Given the description of an element on the screen output the (x, y) to click on. 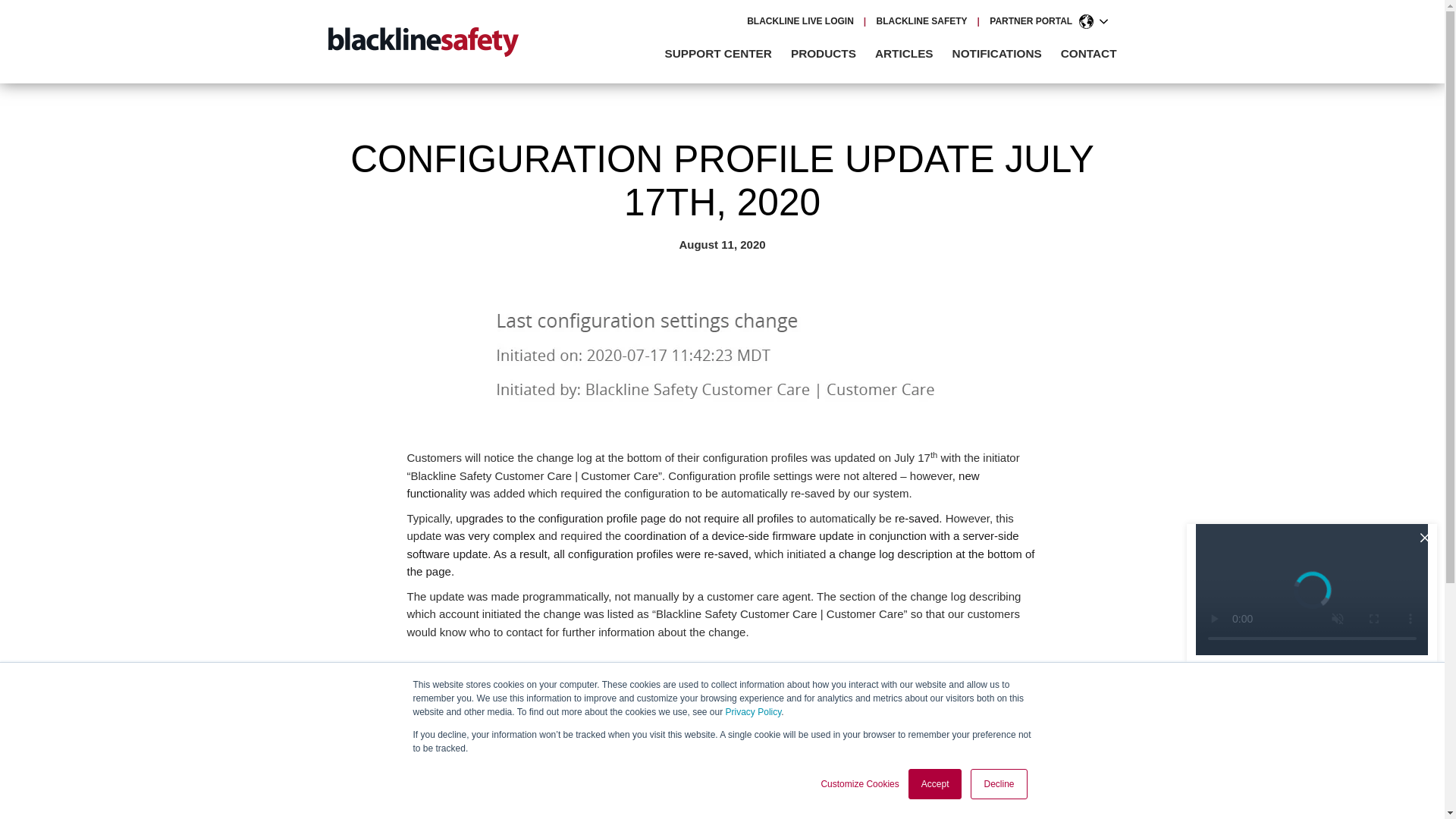
Accept (935, 784)
PARTNER PORTAL (1030, 20)
Privacy Policy (753, 711)
BLACKLINE LIVE LOGIN (799, 20)
Customize Cookies (859, 784)
ENGLISH (1097, 21)
CONTACT (1088, 53)
NOTIFICATIONS (1004, 53)
Decline (998, 784)
Popup CTA (1311, 667)
BLACKLINE SAFETY (922, 20)
ARTICLES (912, 53)
SUPPORT CENTER (726, 53)
PRODUCTS (830, 53)
